Given the description of an element on the screen output the (x, y) to click on. 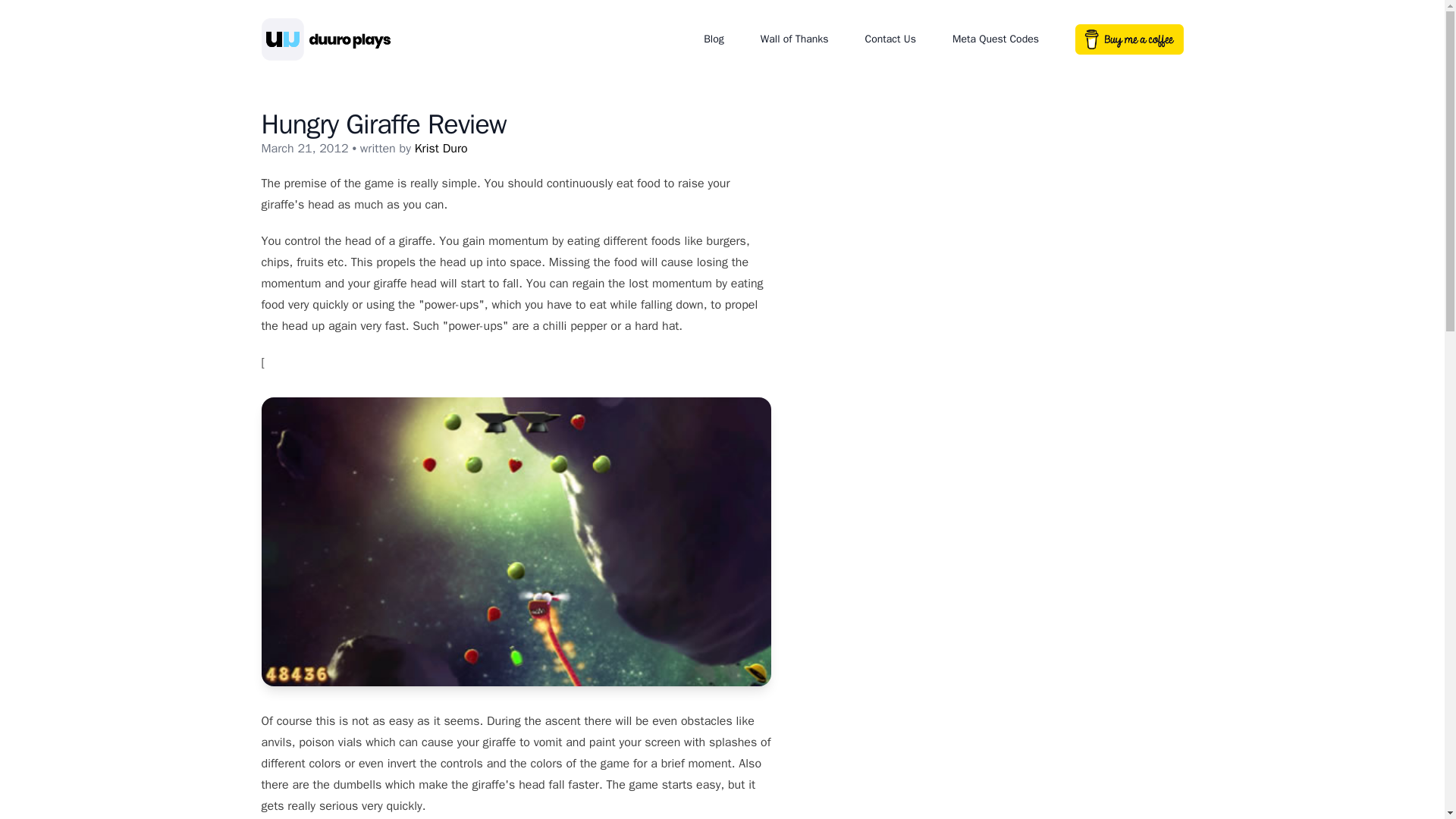
Meta Quest Codes (995, 39)
Contact Us (889, 39)
Wall of Thanks (794, 39)
Duuro Plays (334, 39)
Krist Duro (440, 148)
